Given the description of an element on the screen output the (x, y) to click on. 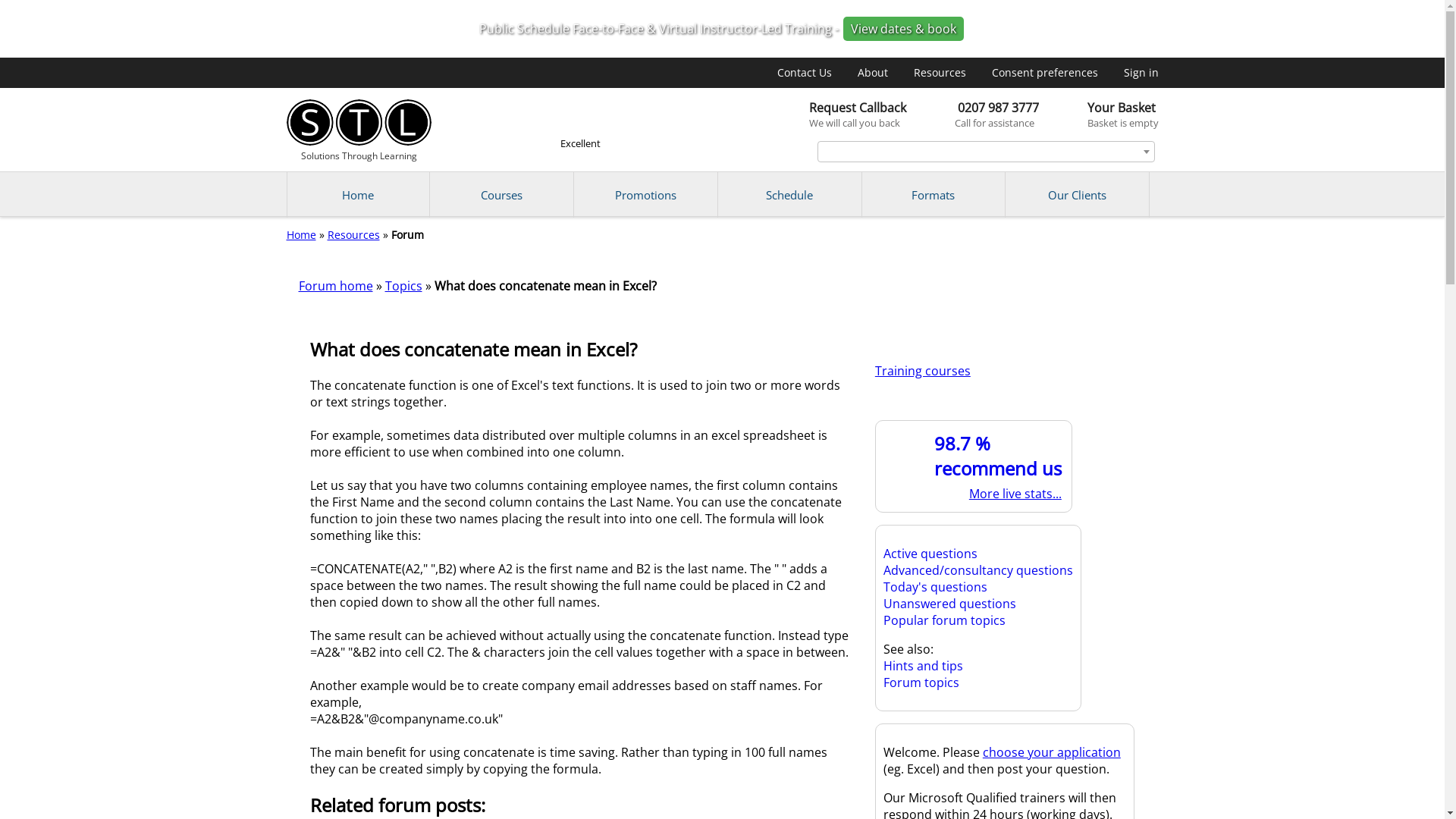
Resources (353, 234)
Sign in (1141, 72)
Resources (1106, 114)
Solutions Through Learning (840, 114)
Consent preferences (938, 72)
About (358, 130)
Contact Us (979, 114)
